Given the description of an element on the screen output the (x, y) to click on. 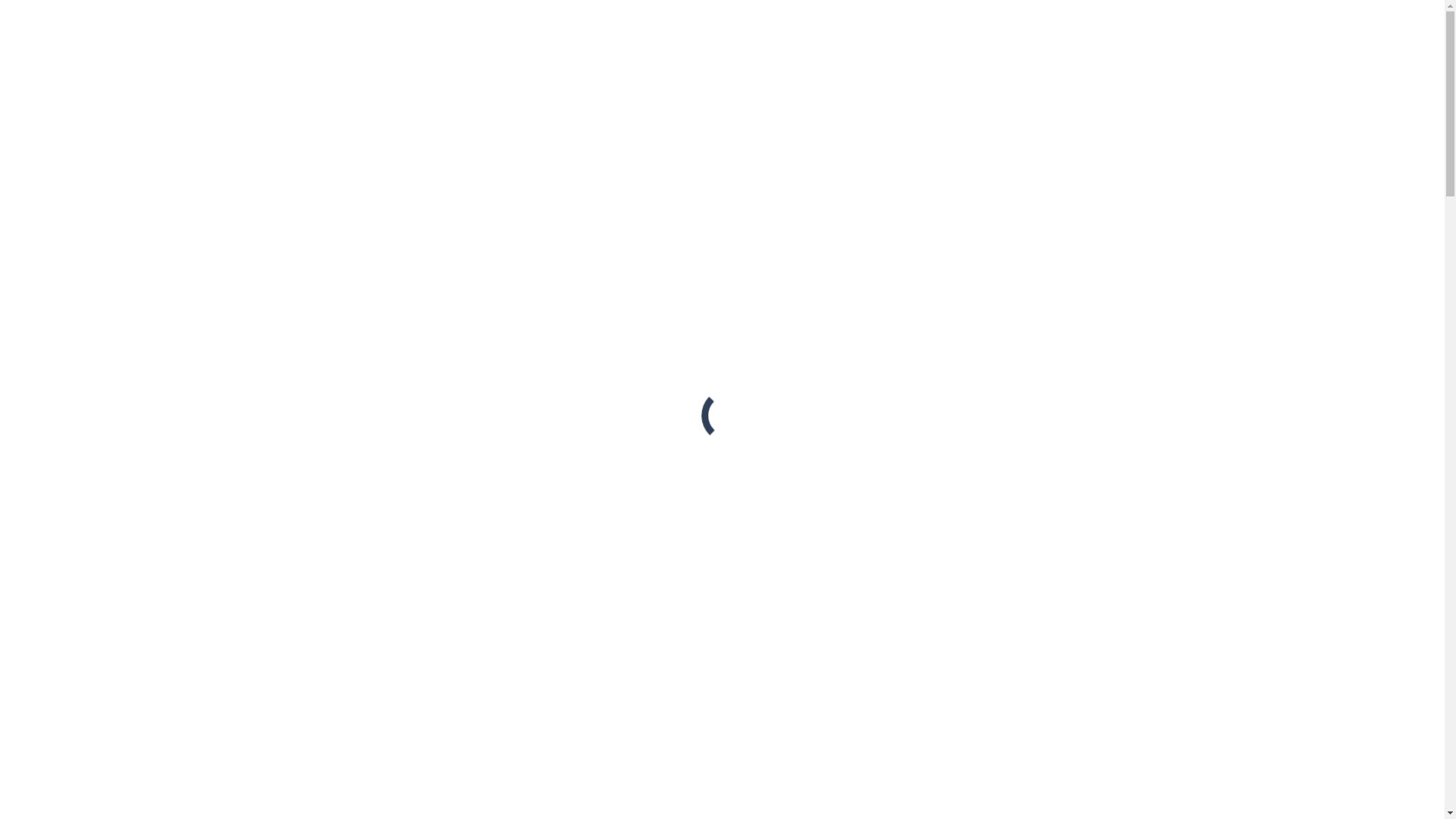
Skip Bins Element type: text (74, 182)
Home Element type: text (60, 129)
About Us Element type: text (62, 143)
Home Element type: text (50, 447)
Skip to content Element type: text (5, 5)
Go! Element type: text (790, 553)
Contact Element type: text (60, 196)
Go! Element type: text (20, 253)
About Us Element type: text (62, 294)
lanemetals@bigpond.com Element type: text (71, 25)
0407 198 468 Element type: text (353, 12)
Contact Element type: text (60, 347)
SEARCH Element type: text (32, 222)
Home Element type: text (60, 280)
Search form Element type: hover (73, 237)
Scrap Metal Collection Element type: text (95, 156)
Scrap Metal Collection Element type: text (95, 307)
Skip Bins Element type: text (74, 333)
